Given the description of an element on the screen output the (x, y) to click on. 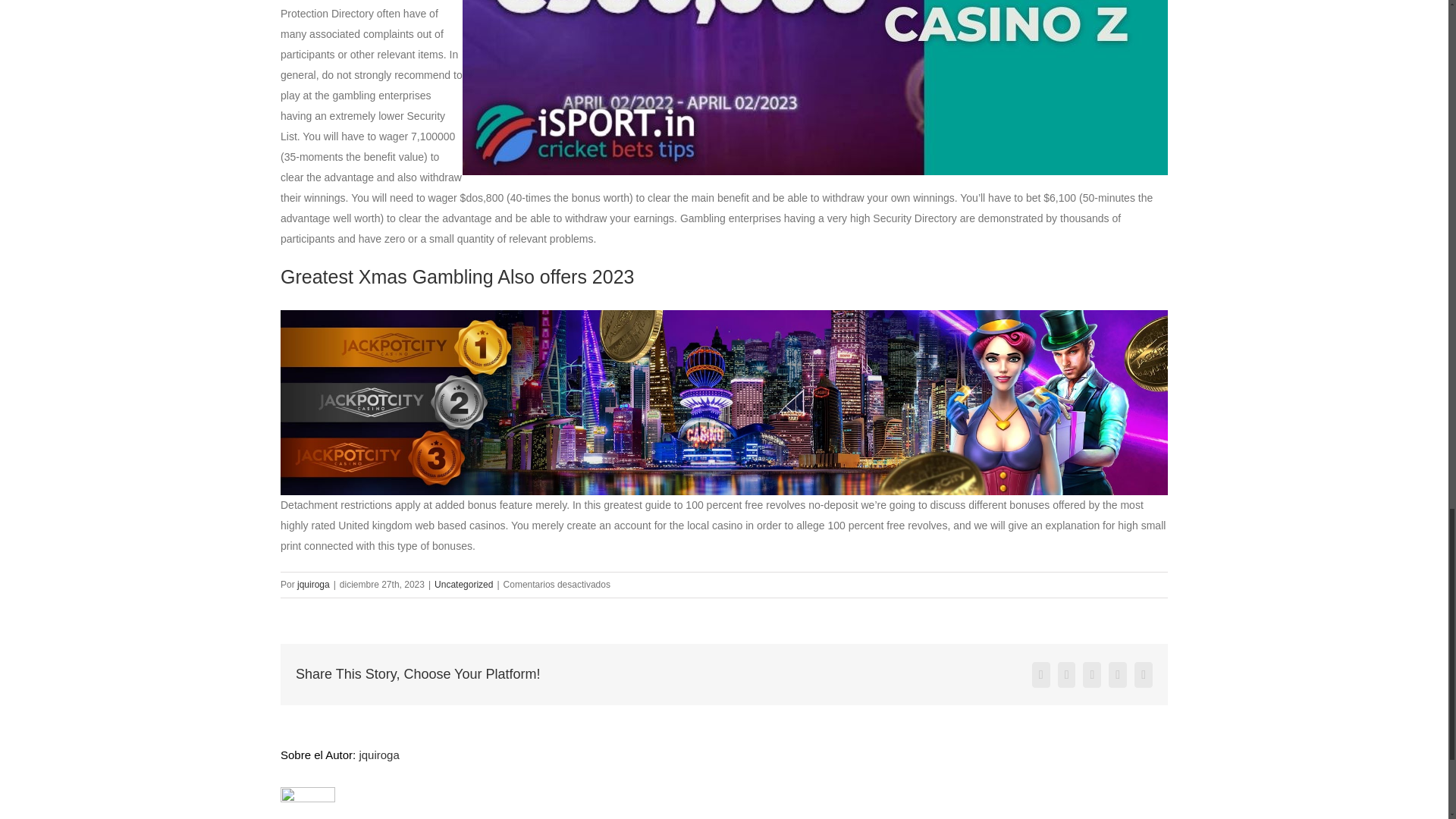
Entradas de jquiroga (313, 584)
Entradas de jquiroga (378, 754)
